Given the description of an element on the screen output the (x, y) to click on. 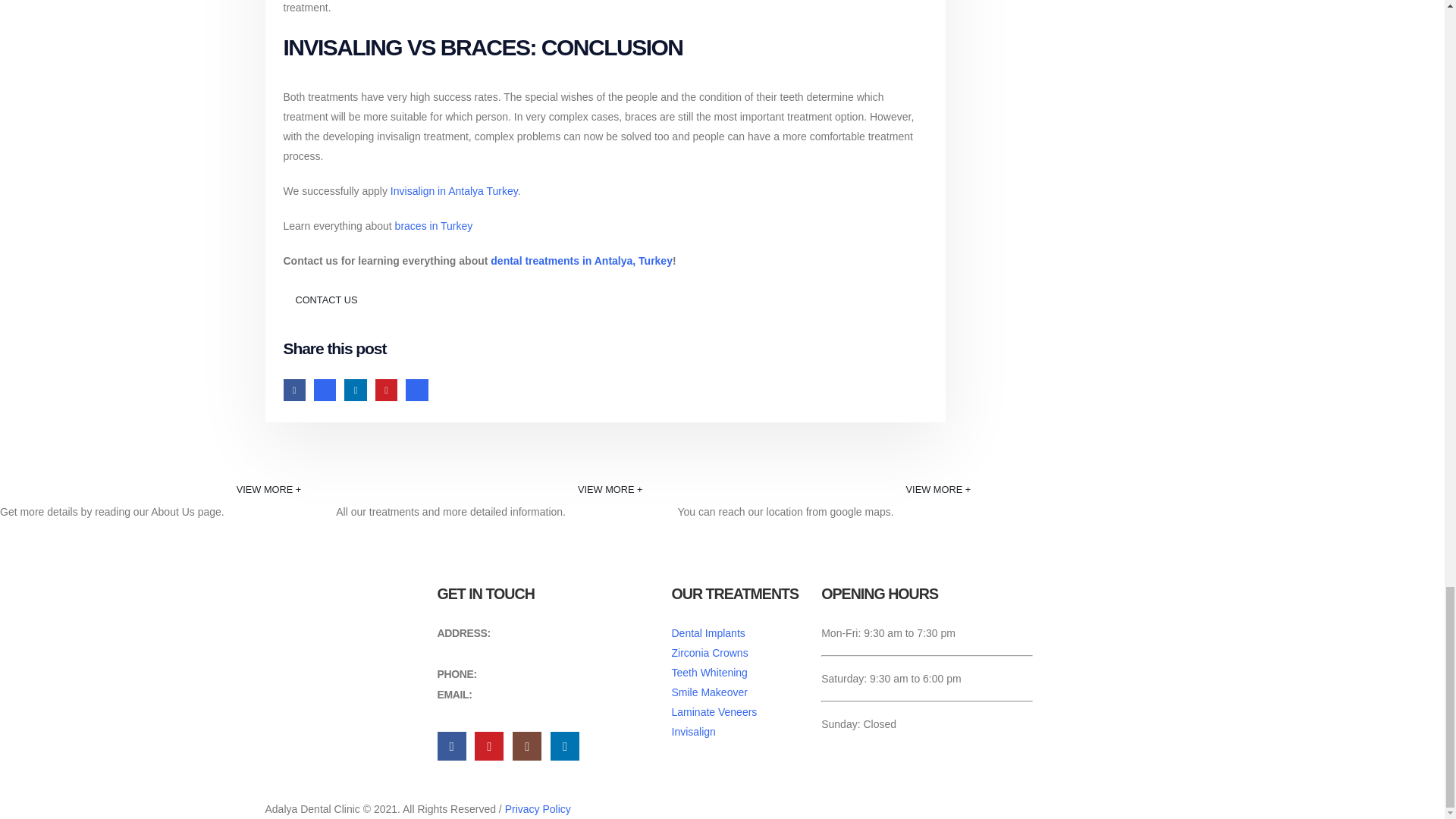
Email (417, 390)
Facebook (294, 390)
LinkedIn (354, 390)
Twitter (325, 390)
Pinterest (386, 390)
